Given the description of an element on the screen output the (x, y) to click on. 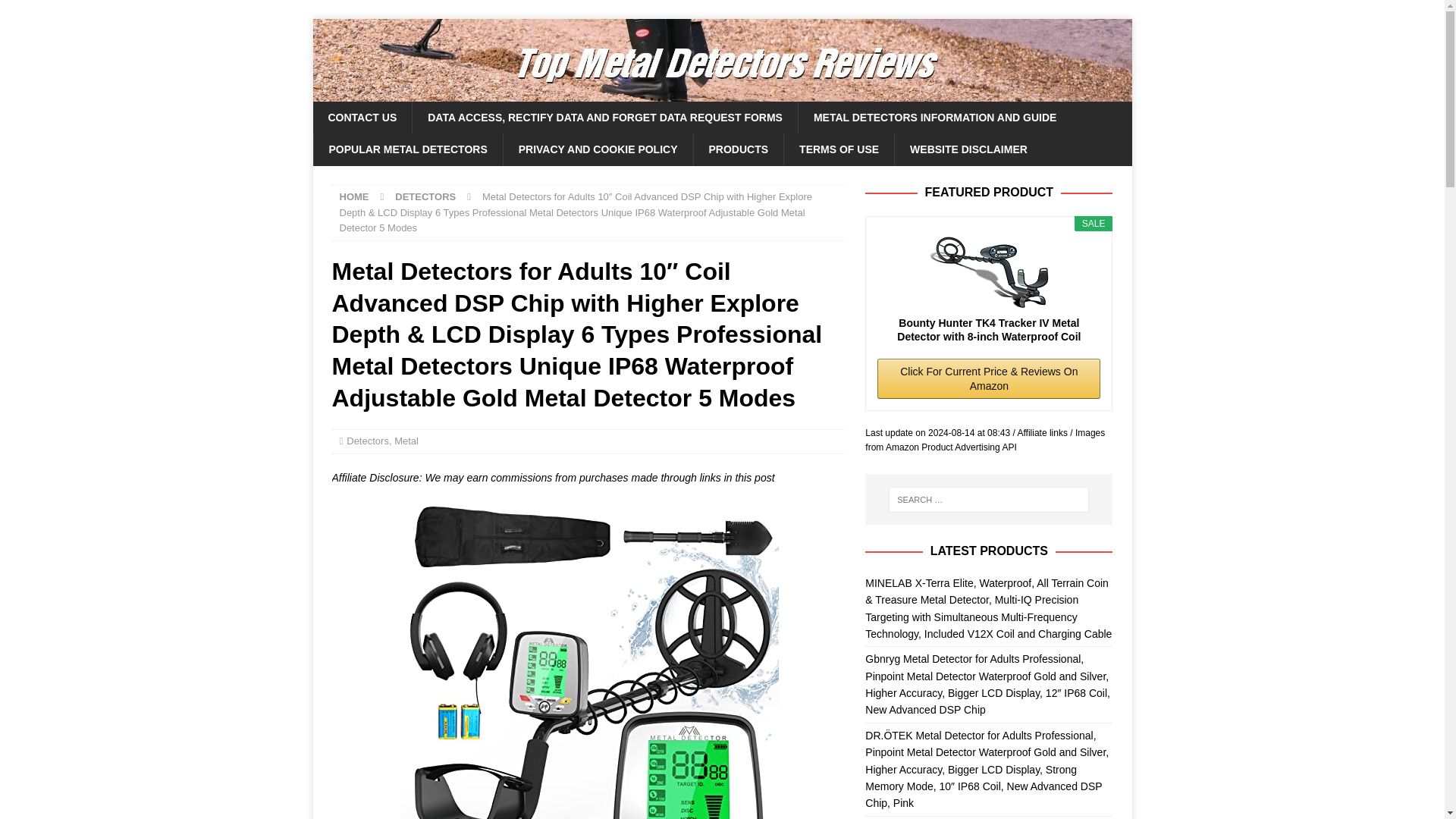
CONTACT US (362, 117)
PRODUCTS (738, 149)
WEBSITE DISCLAIMER (967, 149)
HOME (354, 196)
POPULAR METAL DETECTORS (407, 149)
DATA ACCESS, RECTIFY DATA AND FORGET DATA REQUEST FORMS (604, 117)
DETECTORS (424, 196)
Metal (406, 440)
